Given the description of an element on the screen output the (x, y) to click on. 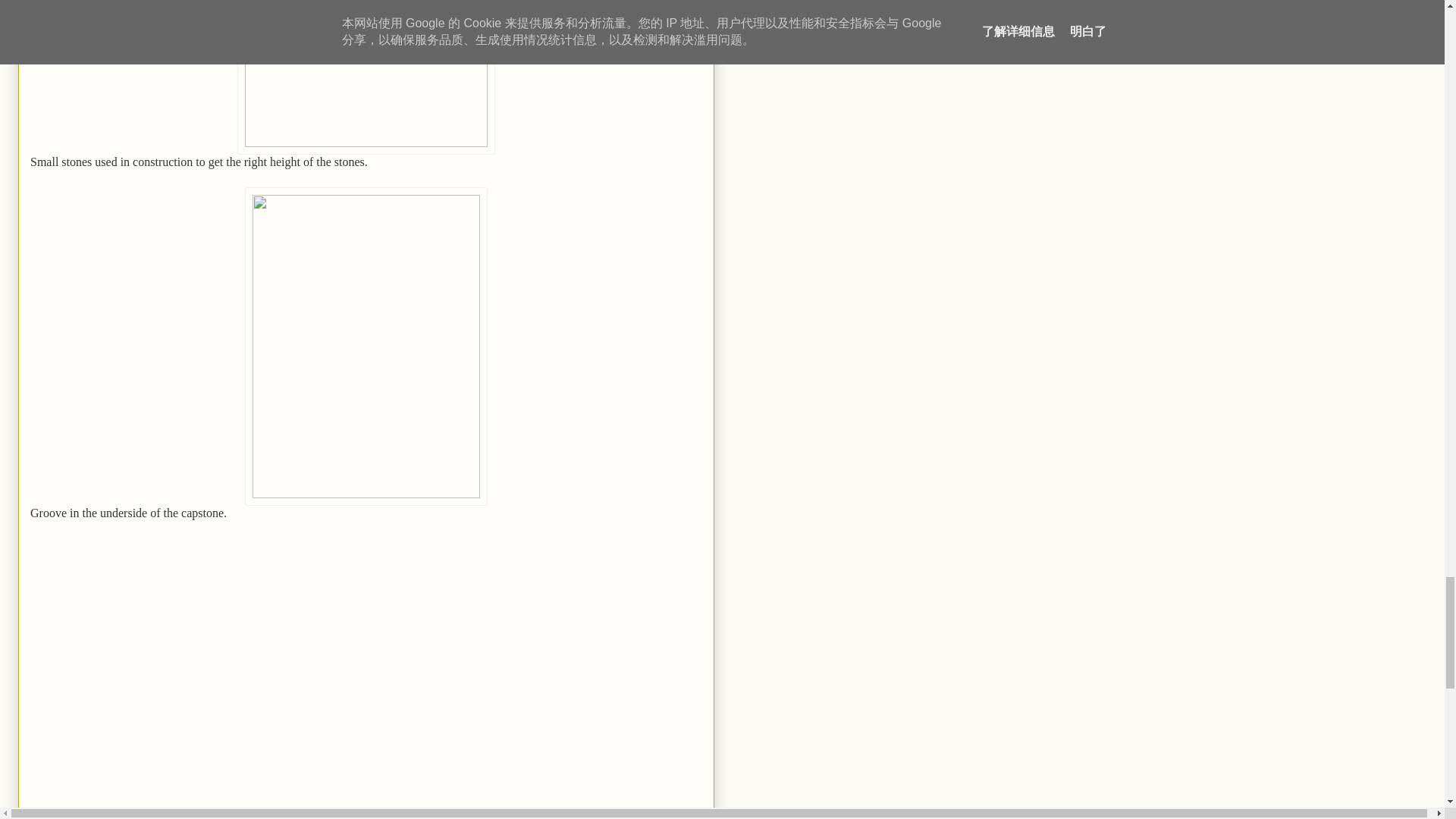
The Standing Stone (93, 815)
